Given the description of an element on the screen output the (x, y) to click on. 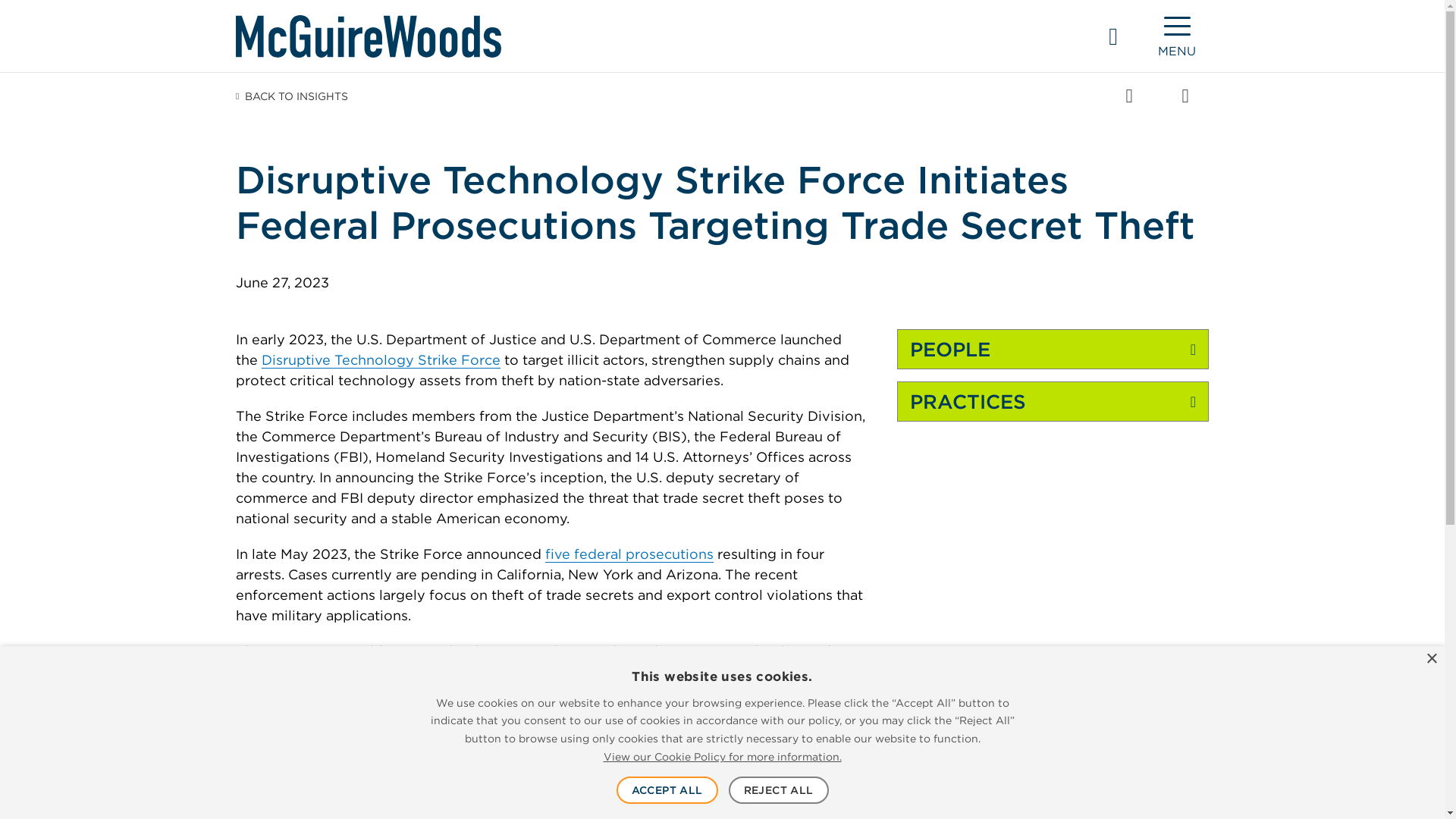
five federal prosecutions (628, 554)
BACK TO INSIGHTS (291, 95)
Disruptive Technology Strike Force (381, 360)
PEOPLE (1053, 349)
